Given the description of an element on the screen output the (x, y) to click on. 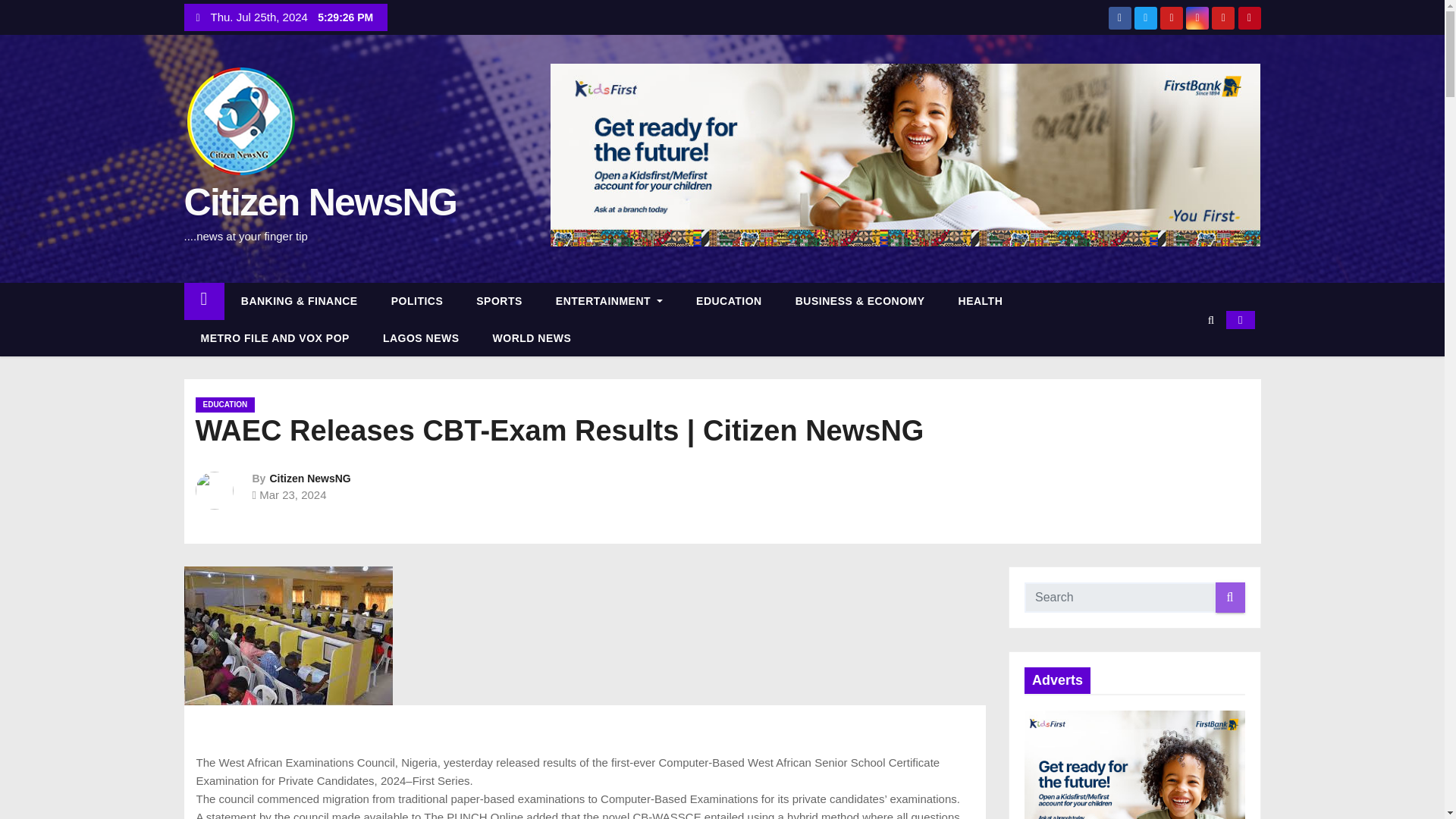
LAGOS NEWS (421, 338)
POLITICS (417, 300)
LAGOS NEWS (421, 338)
SPORTS (499, 300)
WORLD NEWS (532, 338)
POLITICS (417, 300)
Citizen NewsNG (320, 201)
WORLD NEWS (532, 338)
ENTERTAINMENT (608, 300)
Home (203, 300)
EDUCATION (225, 404)
EDUCATION (728, 300)
Citizen NewsNG (309, 478)
HEALTH (981, 300)
METRO FILE AND VOX POP (274, 338)
